Given the description of an element on the screen output the (x, y) to click on. 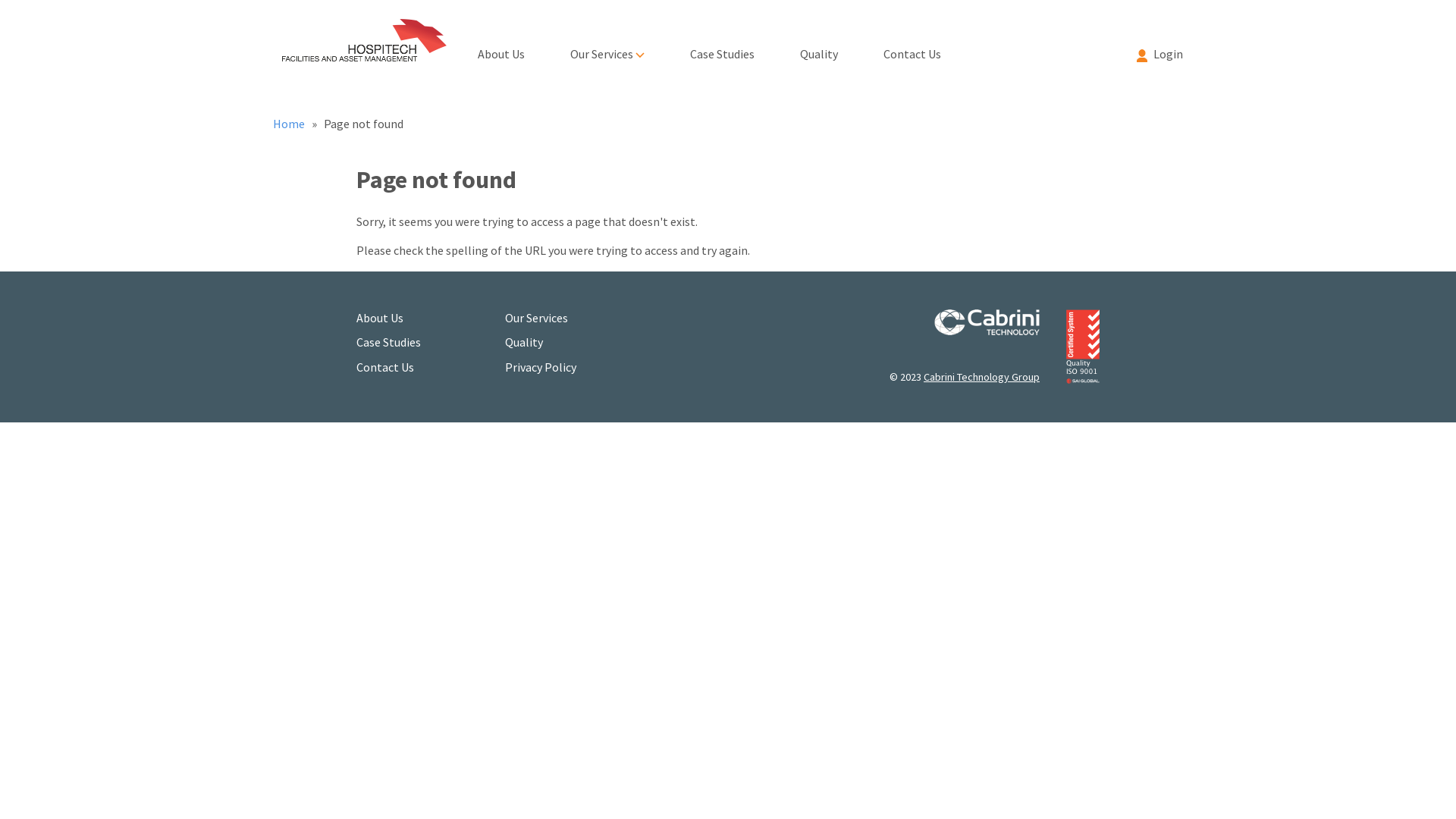
Login Element type: text (1152, 42)
Case Studies Element type: text (721, 42)
Contact Us Element type: text (385, 366)
About Us Element type: text (379, 317)
About Us Element type: text (500, 42)
Cabrini Technology Group Element type: text (981, 376)
Quality Element type: text (523, 341)
Home Element type: text (290, 123)
Our Services Element type: text (607, 42)
Privacy Policy Element type: text (540, 366)
Contact Us Element type: text (912, 42)
Our Services Element type: text (536, 317)
Quality Element type: text (818, 42)
Case Studies Element type: text (388, 341)
